Given the description of an element on the screen output the (x, y) to click on. 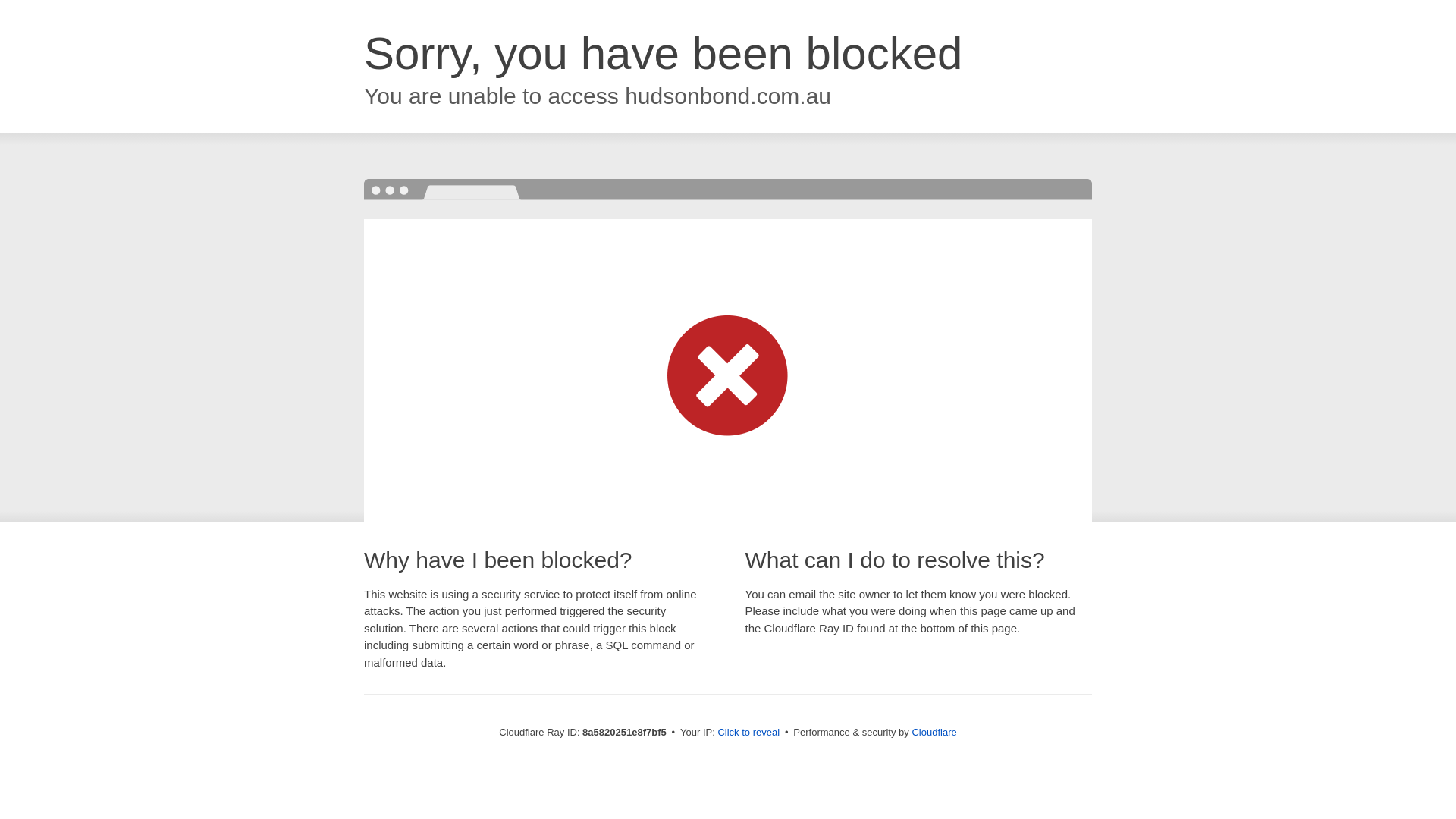
Click to reveal (747, 732)
Cloudflare (933, 731)
